Given the description of an element on the screen output the (x, y) to click on. 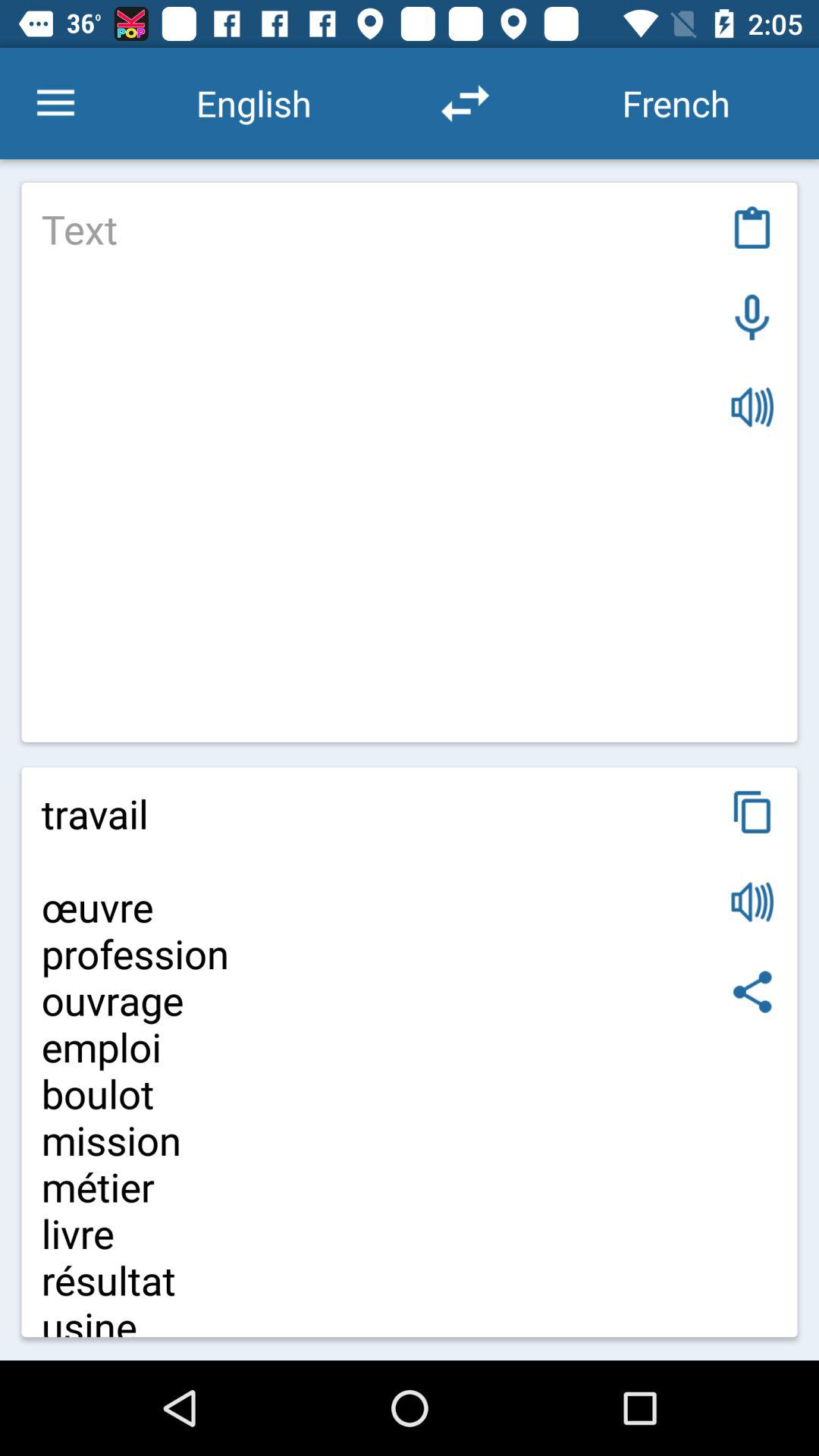
turn on the icon to the left of the english icon (55, 103)
